Given the description of an element on the screen output the (x, y) to click on. 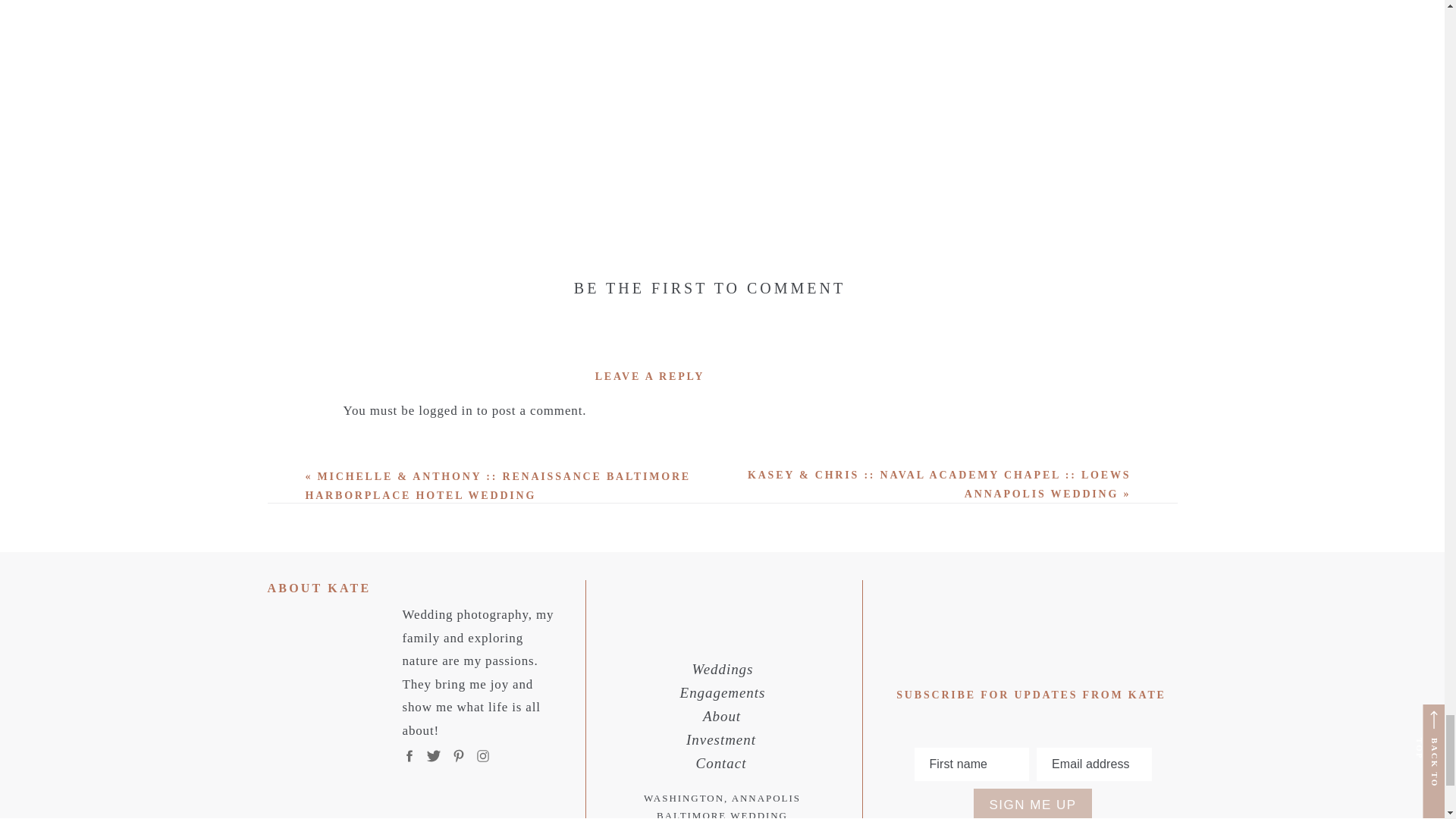
BE THE FIRST TO COMMENT (709, 288)
Contact (722, 763)
logged in (445, 410)
SIGN ME UP (1032, 803)
Engagements (723, 693)
Investment (722, 740)
Weddings (723, 670)
About (722, 716)
